Given the description of an element on the screen output the (x, y) to click on. 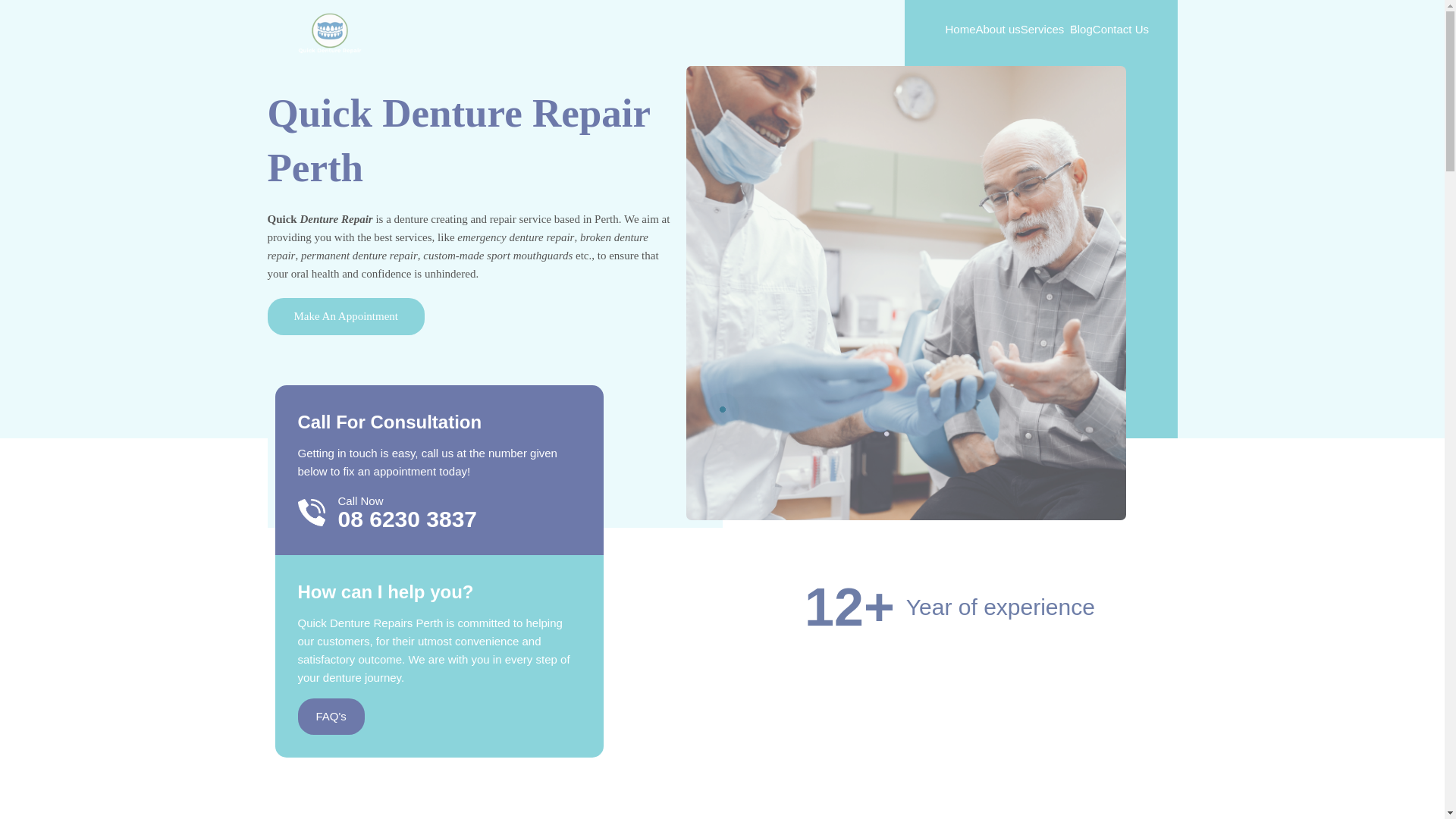
08 6230 3837 (407, 518)
FAQ's (330, 716)
Quick Denture Repair (329, 32)
Make An Appointment (345, 316)
Contact Us (1120, 29)
